Given the description of an element on the screen output the (x, y) to click on. 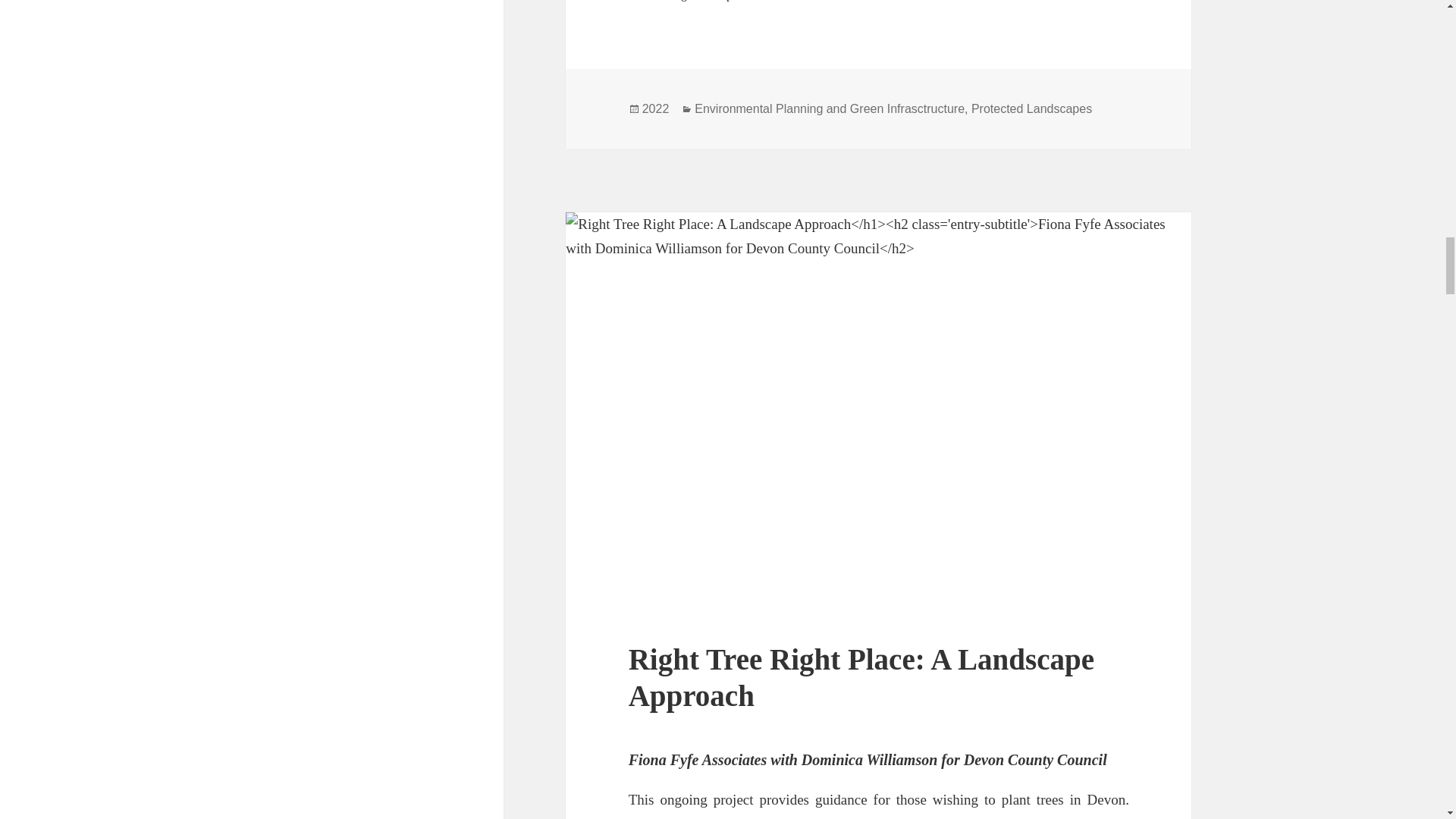
Right Tree Right Place: A Landscape Approach (861, 676)
2022 (655, 109)
Environmental Planning and Green Infrasctructure (828, 109)
Protected Landscapes (1031, 109)
